Given the description of an element on the screen output the (x, y) to click on. 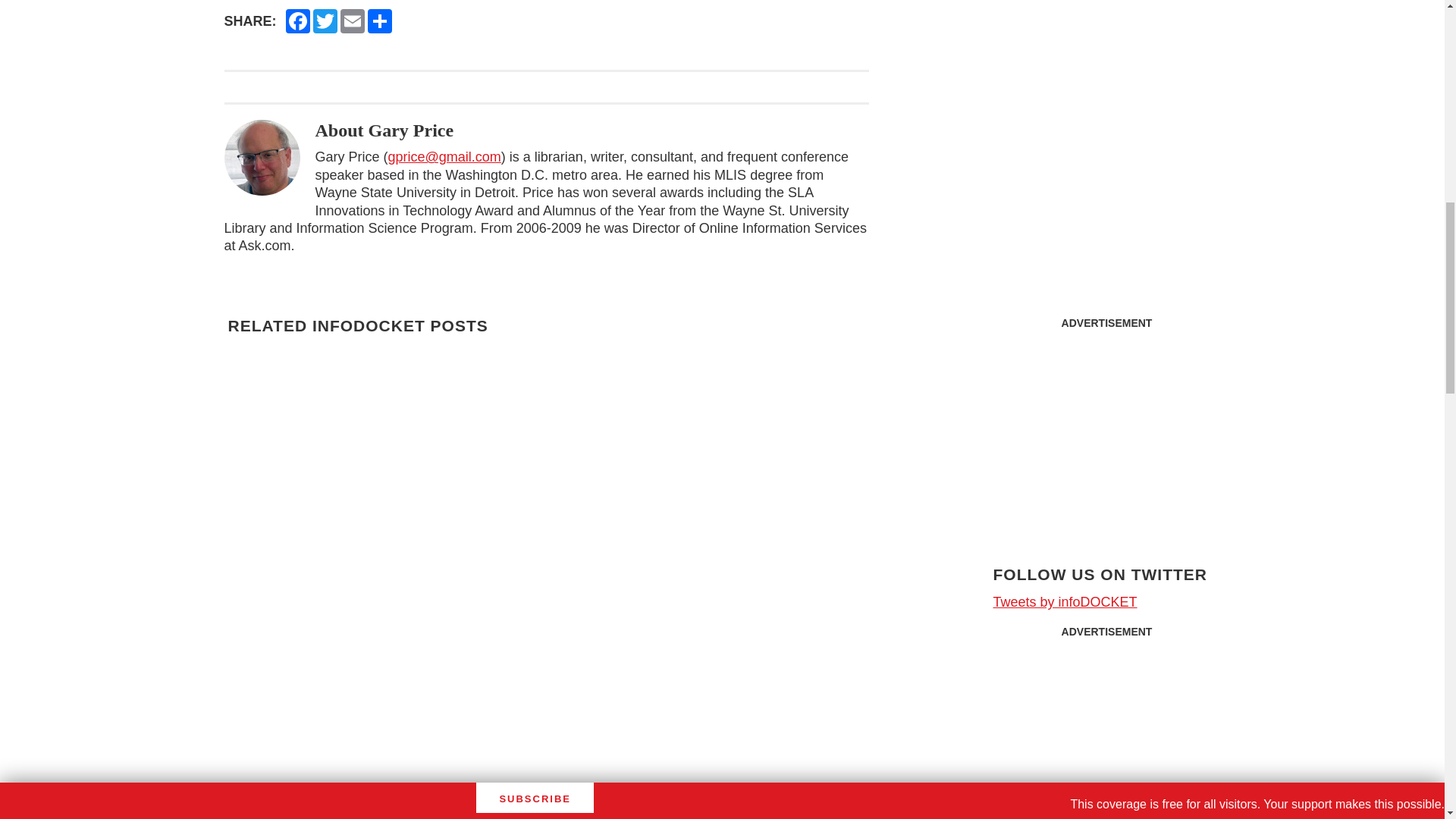
3rd party ad content (1106, 76)
3rd party ad content (1106, 733)
3rd party ad content (1106, 432)
